Given the description of an element on the screen output the (x, y) to click on. 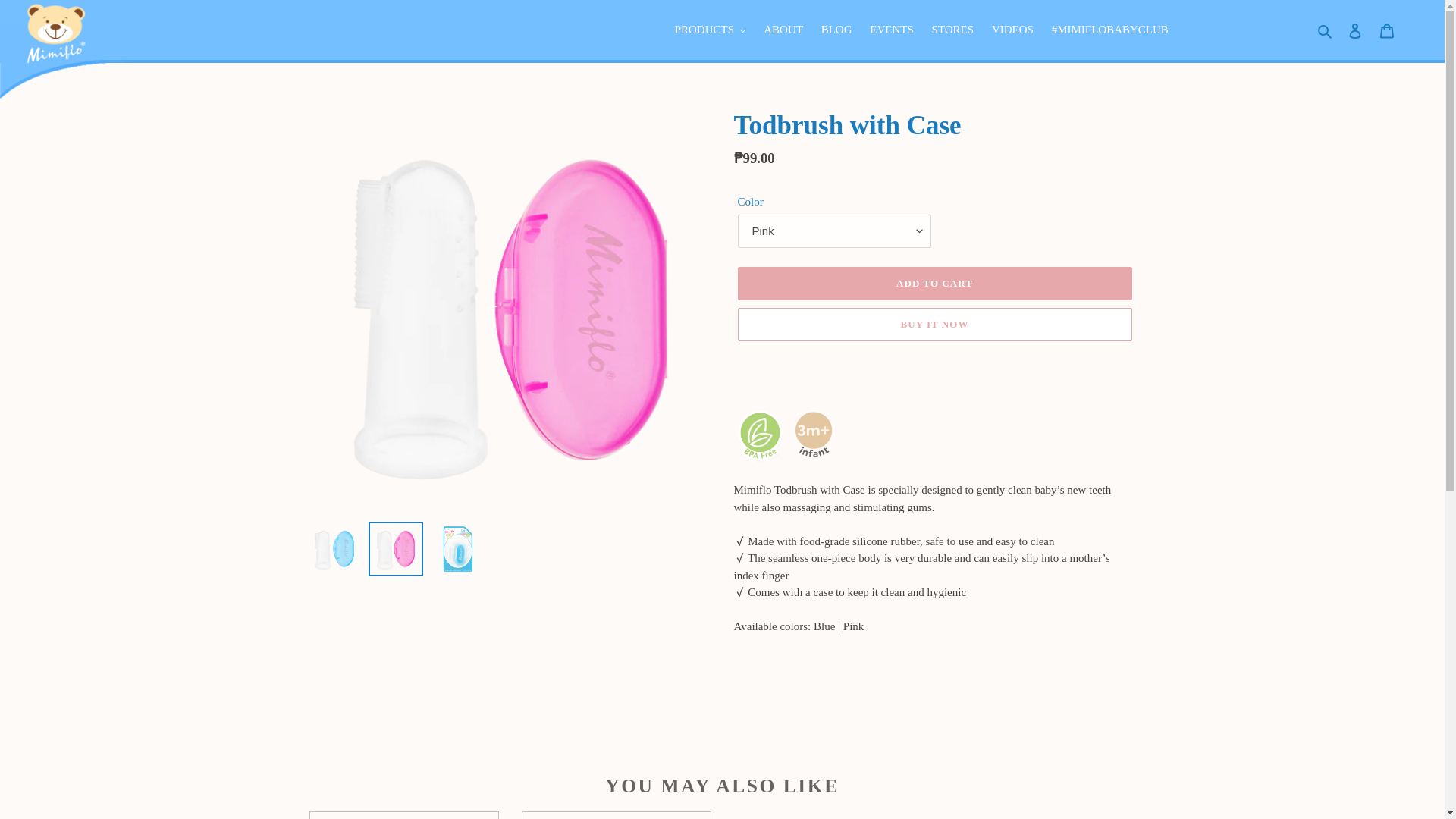
PRODUCTS (710, 29)
